Given the description of an element on the screen output the (x, y) to click on. 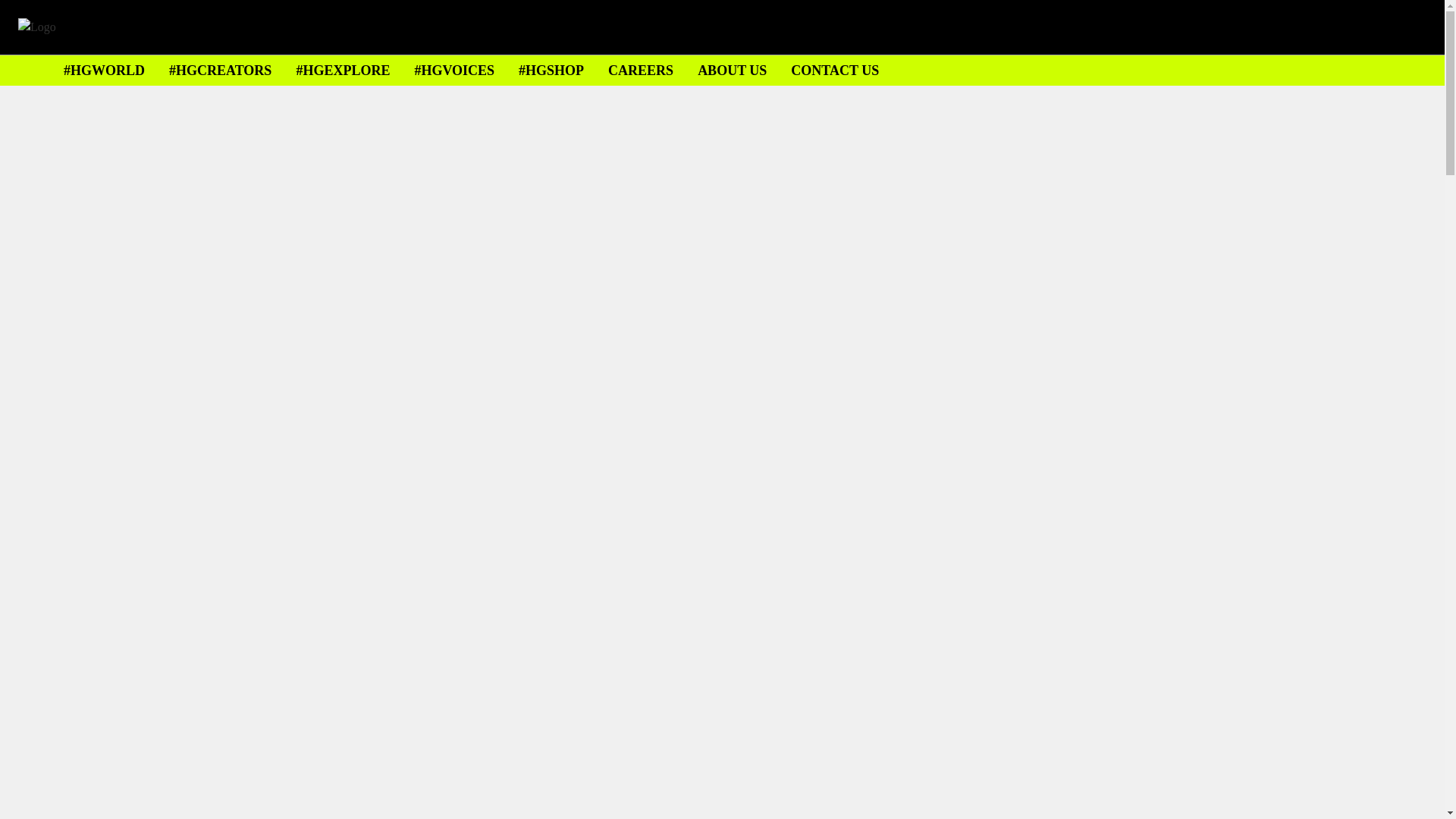
CAREERS (640, 70)
ABOUT US (732, 70)
CONTACT US (834, 70)
